Given the description of an element on the screen output the (x, y) to click on. 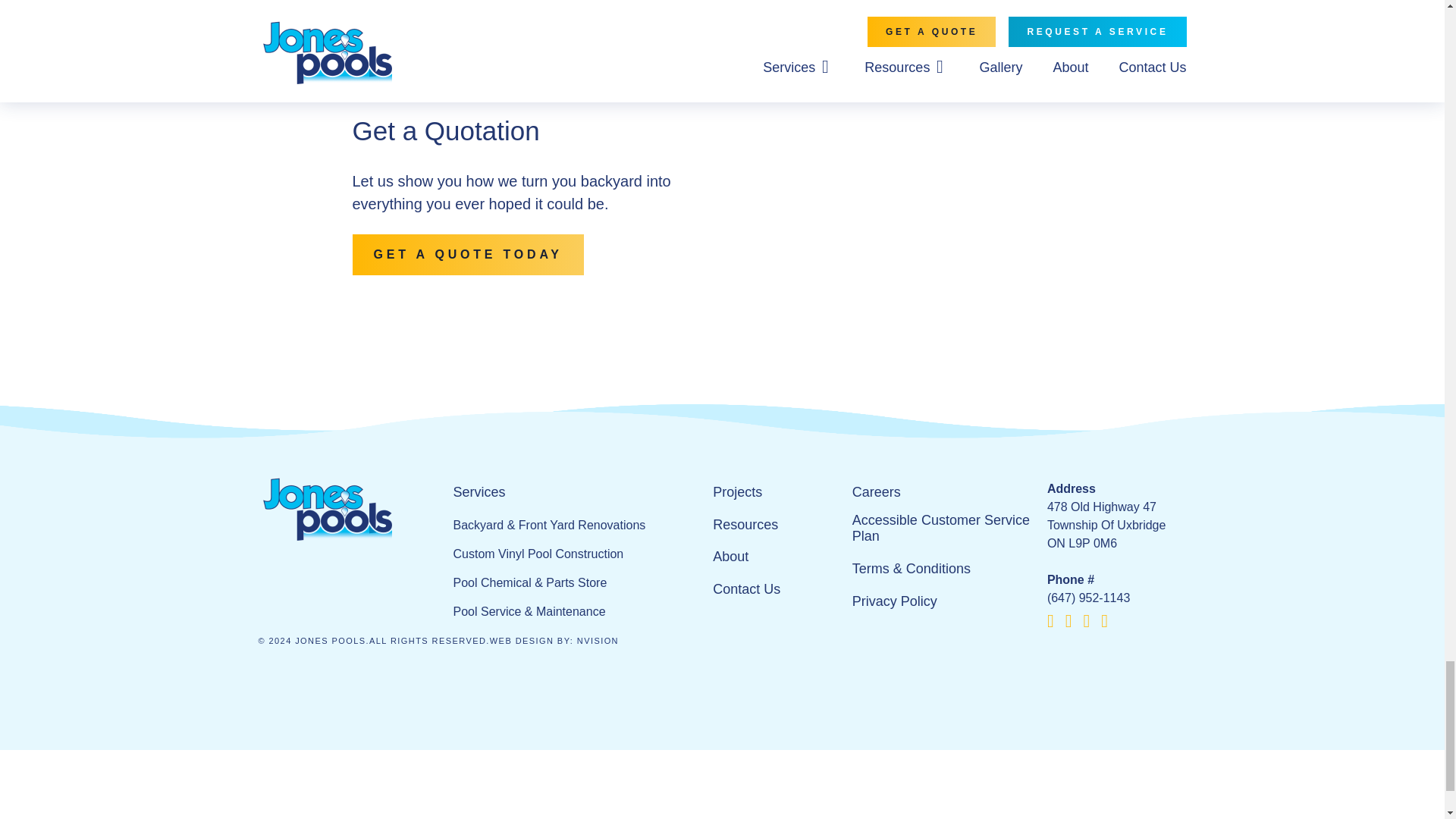
Custom Vinyl Pool Construction (538, 554)
GET A QUOTE TODAY (467, 254)
About (730, 556)
Services (478, 492)
Resources (745, 524)
Projects (737, 492)
